Given the description of an element on the screen output the (x, y) to click on. 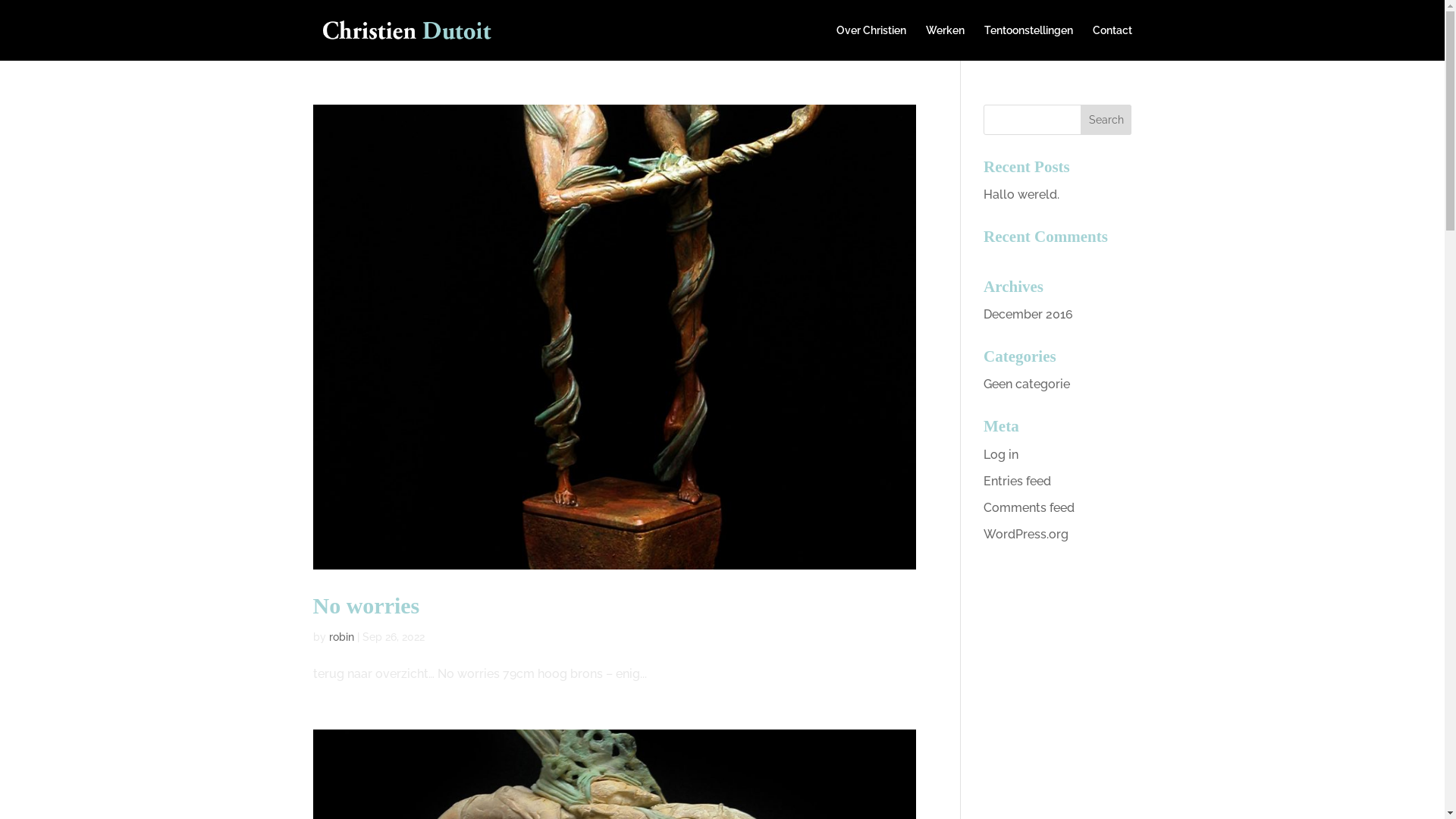
Over Christien Element type: text (870, 42)
No worries Element type: text (365, 605)
Hallo wereld. Element type: text (1021, 194)
Comments feed Element type: text (1028, 507)
December 2016 Element type: text (1028, 314)
Tentoonstellingen Element type: text (1028, 42)
Geen categorie Element type: text (1026, 383)
Werken Element type: text (944, 42)
Log in Element type: text (1000, 454)
robin Element type: text (341, 636)
WordPress.org Element type: text (1025, 534)
Contact Element type: text (1111, 42)
Entries feed Element type: text (1017, 480)
Search Element type: text (1106, 119)
